Given the description of an element on the screen output the (x, y) to click on. 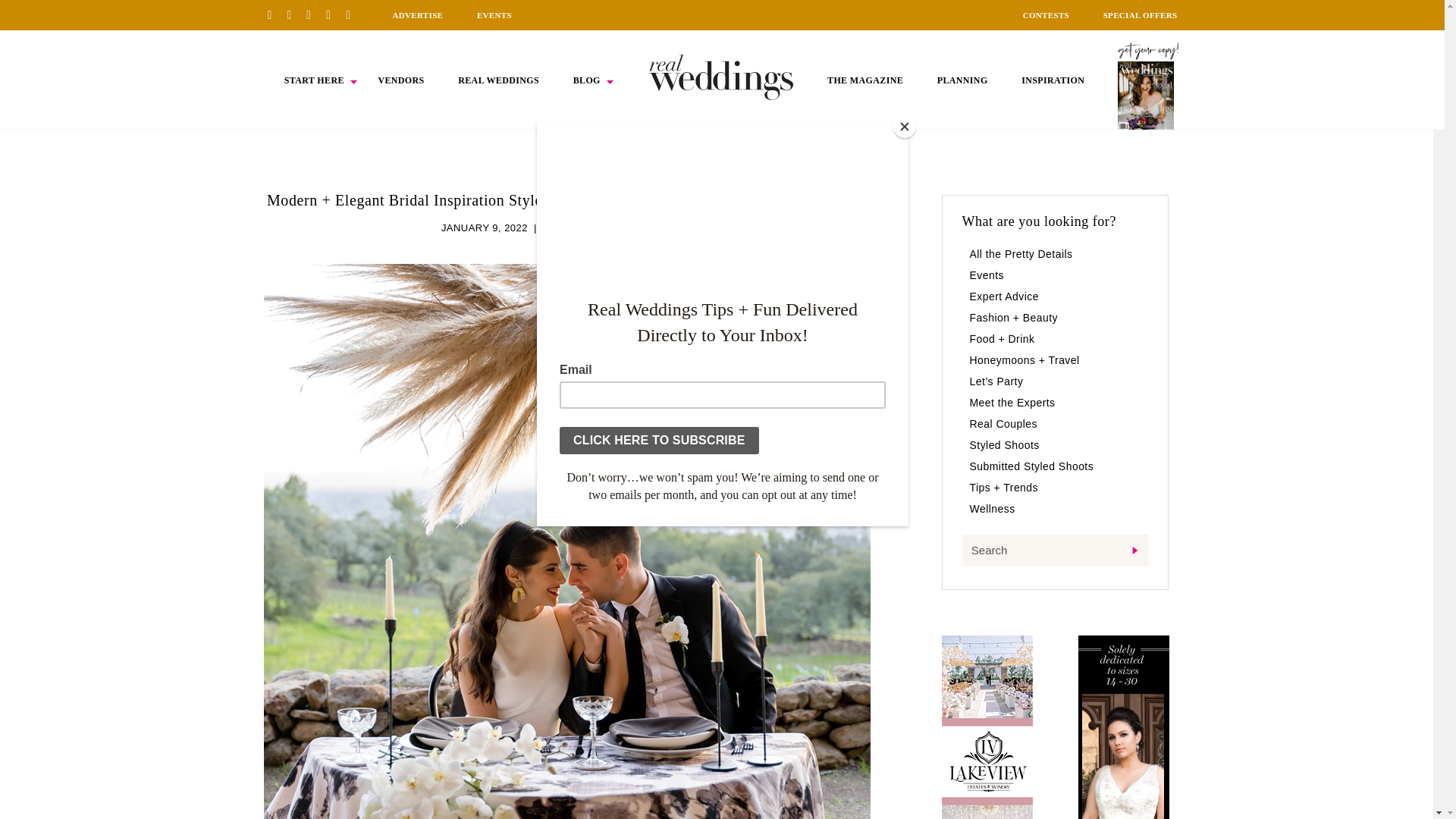
YouTube (353, 14)
VENDORS (400, 80)
Search (1054, 550)
PLANNING (962, 80)
CONTESTS (1045, 14)
Twitter (334, 14)
INSPIRATION (1053, 80)
Facebook (294, 14)
Pinterest (274, 14)
SPECIAL OFFERS (1140, 14)
SUBMITTED STYLED SHOOTS (618, 227)
EVENTS (494, 14)
BLOG (586, 80)
Search (1054, 550)
REAL WEDDINGS (498, 80)
